Given the description of an element on the screen output the (x, y) to click on. 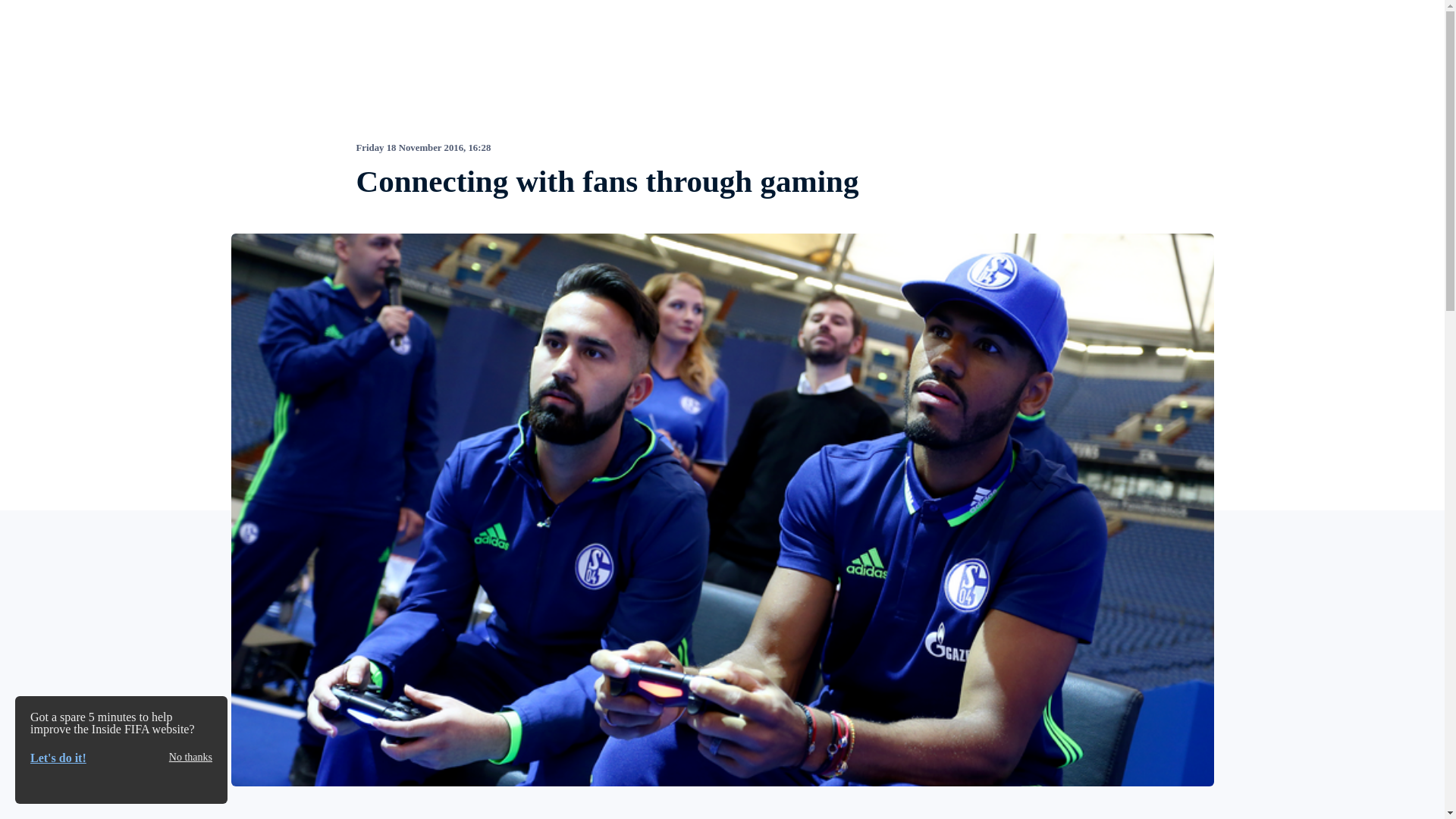
Let's do it! (57, 757)
No thanks (190, 757)
